Given the description of an element on the screen output the (x, y) to click on. 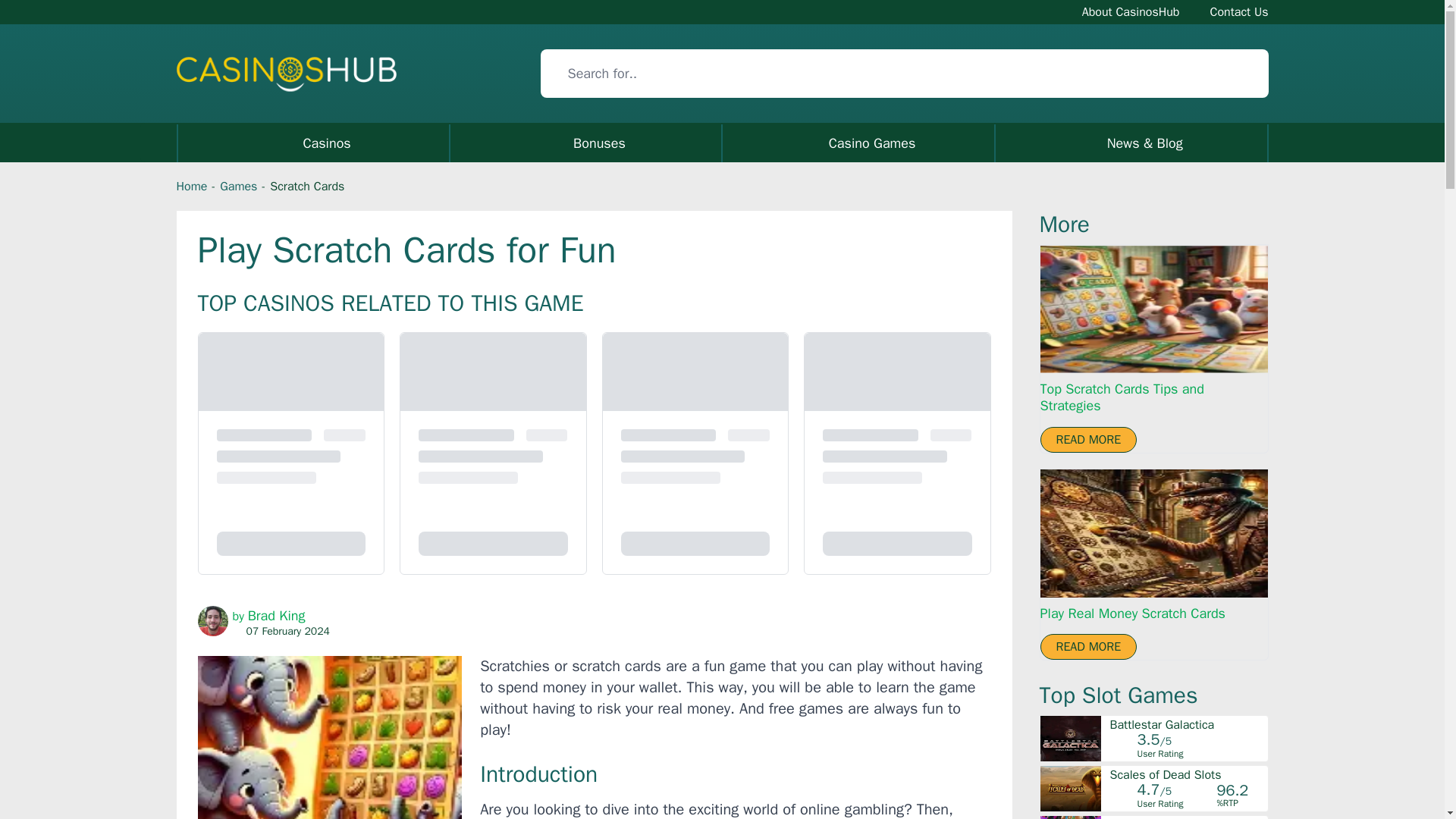
Home (191, 186)
Brad King (276, 615)
Games (238, 186)
Battlestar Galactica (1187, 725)
Scales of Dead Slots (1187, 775)
About CasinosHub (1130, 11)
Contact Us (1238, 11)
